Given the description of an element on the screen output the (x, y) to click on. 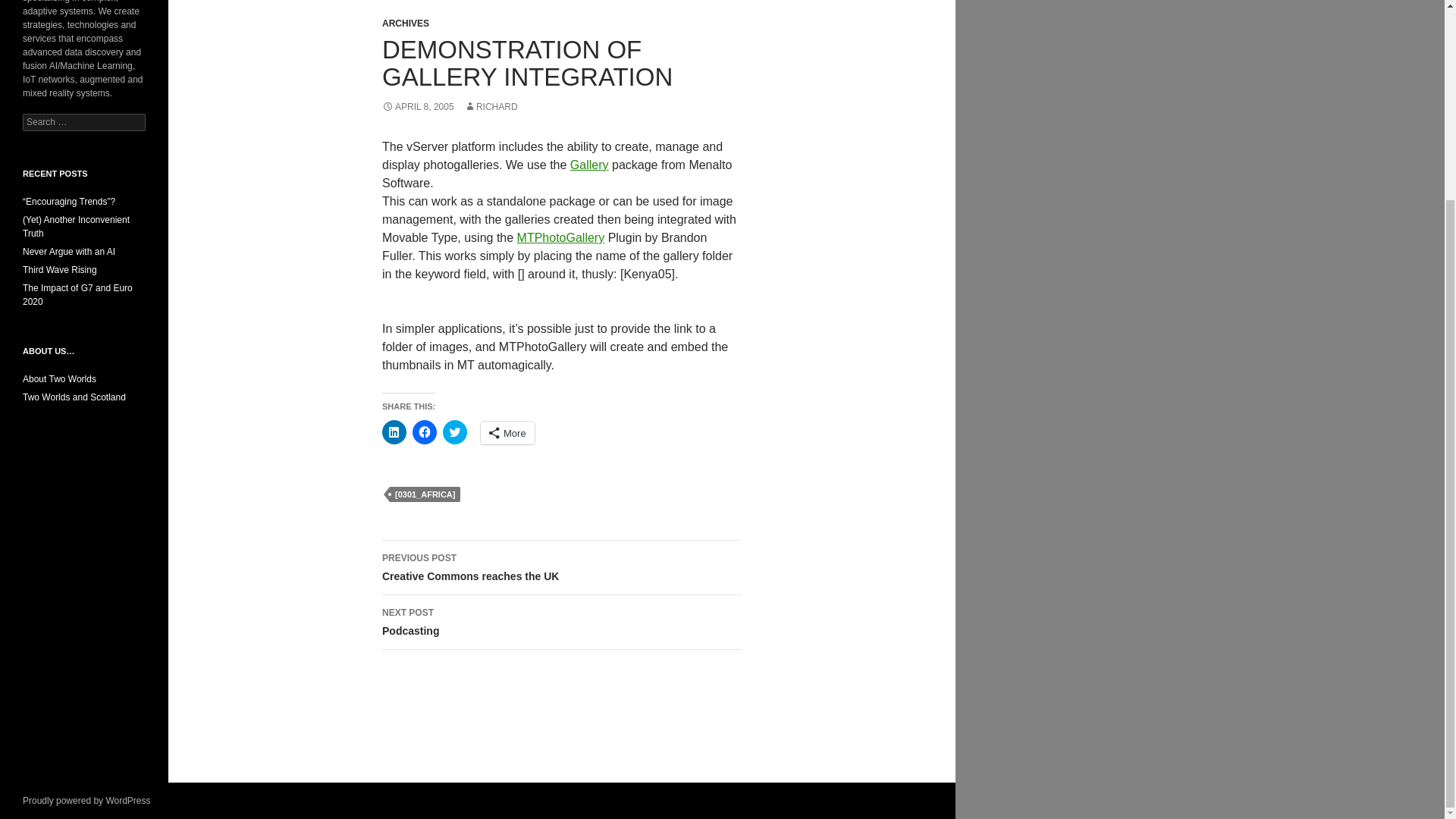
MTPhotoGallery (561, 622)
Never Argue with an AI (560, 237)
RICHARD (69, 251)
MTPhotoGallery (491, 106)
Click to share on Twitter (561, 567)
APRIL 8, 2005 (560, 237)
Third Wave Rising (454, 432)
Two Worlds and Scotland (417, 106)
